Given the description of an element on the screen output the (x, y) to click on. 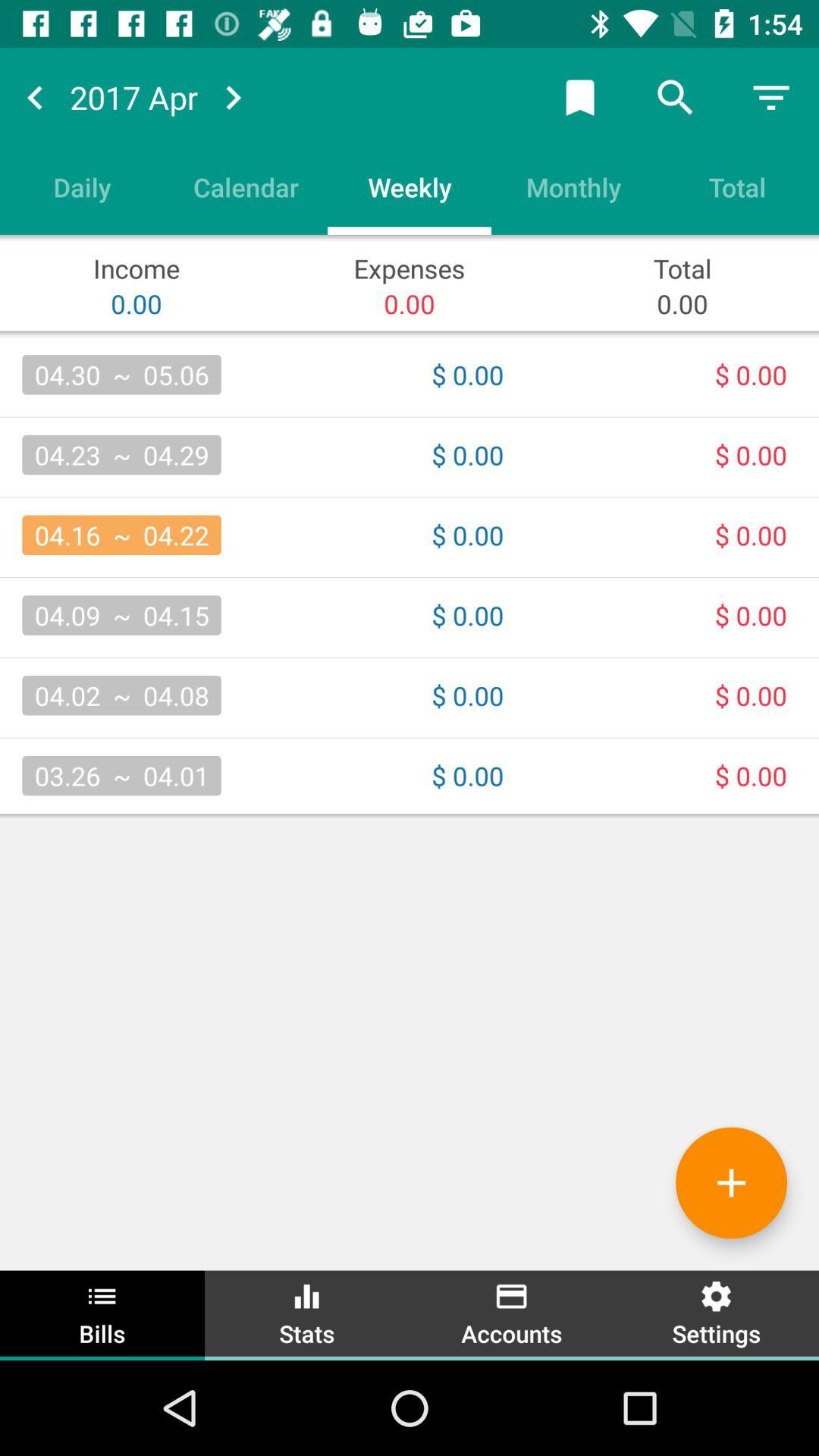
flip to daily icon (81, 186)
